Given the description of an element on the screen output the (x, y) to click on. 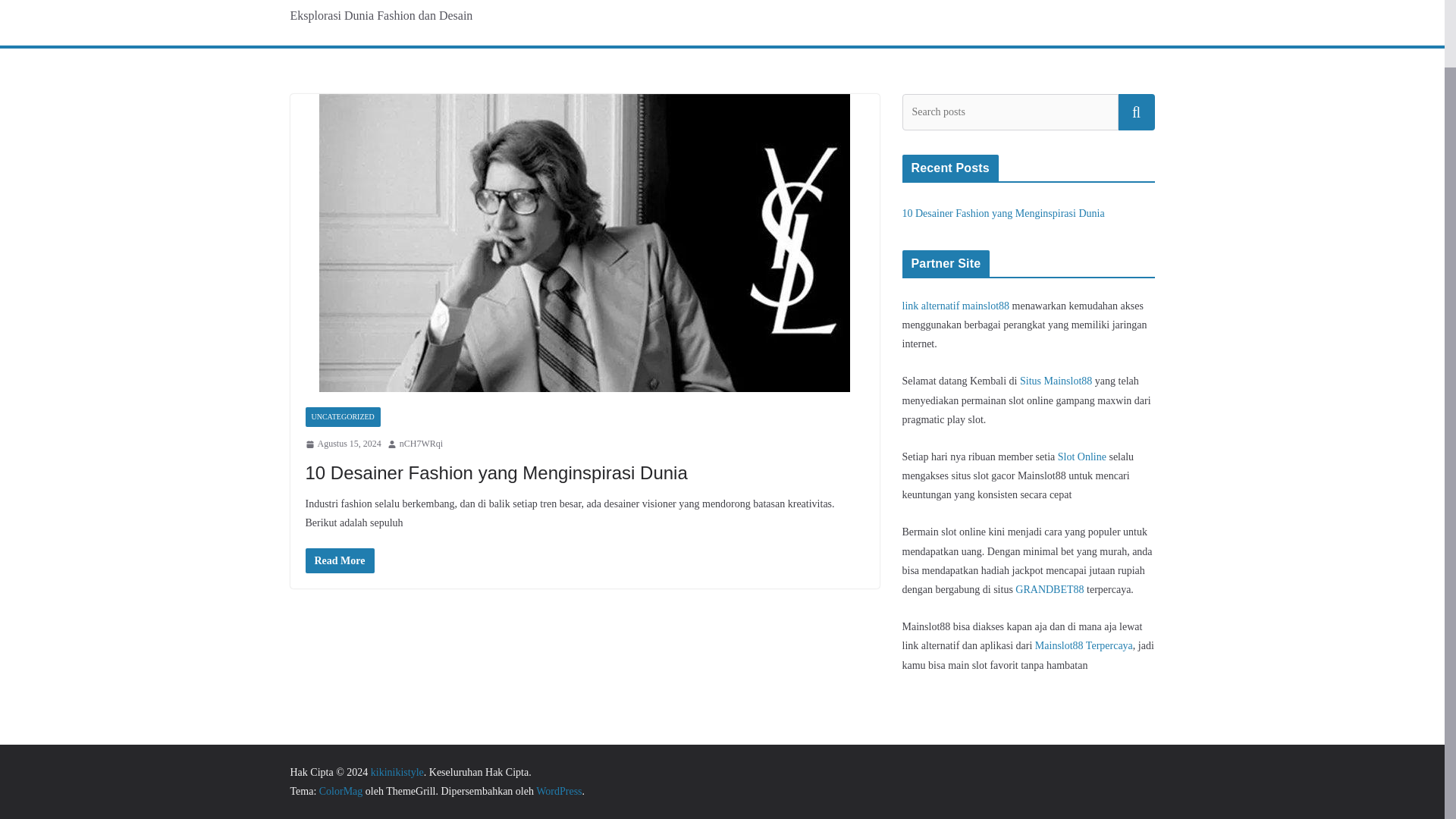
3:53 pm (342, 443)
ColorMag (340, 790)
10 Desainer Fashion yang Menginspirasi Dunia (1003, 213)
10 Desainer Fashion yang Menginspirasi Dunia (495, 472)
Agustus 15, 2024 (342, 443)
GRANDBET88 (1048, 589)
WordPress (557, 790)
kikinikistyle (397, 772)
Mainslot88 Terpercaya (1083, 645)
ColorMag (340, 790)
